Given the description of an element on the screen output the (x, y) to click on. 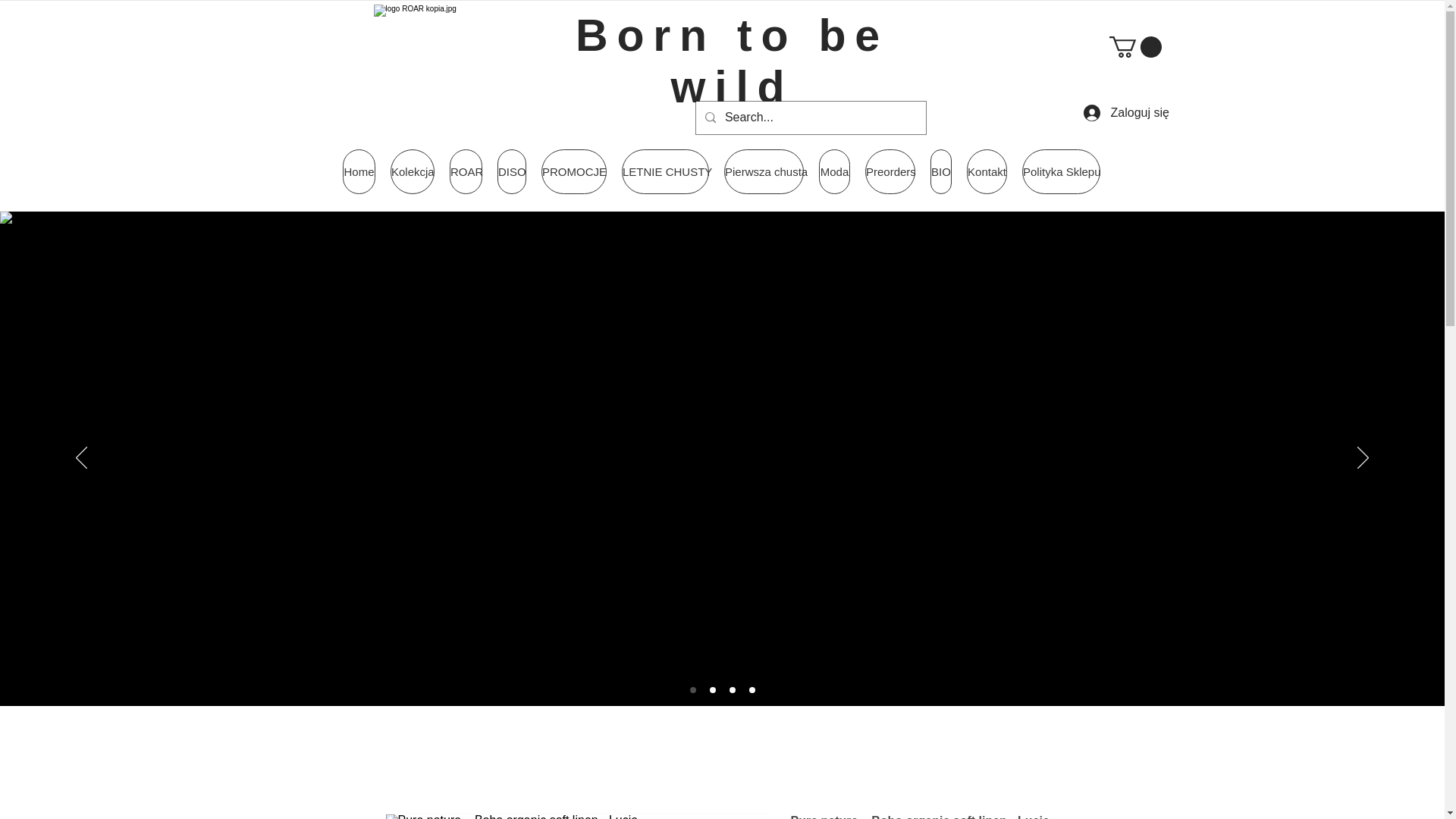
Kontakt (986, 171)
Pierwsza chusta (763, 171)
Born to be wild (731, 61)
Preorders (889, 171)
Moda (834, 171)
Polityka Sklepu (1061, 171)
ROAR (465, 171)
Home (358, 171)
BIO (941, 171)
PROMOCJE (574, 171)
Kolekcja (411, 171)
LETNIE CHUSTY (665, 171)
DISO (511, 171)
